Given the description of an element on the screen output the (x, y) to click on. 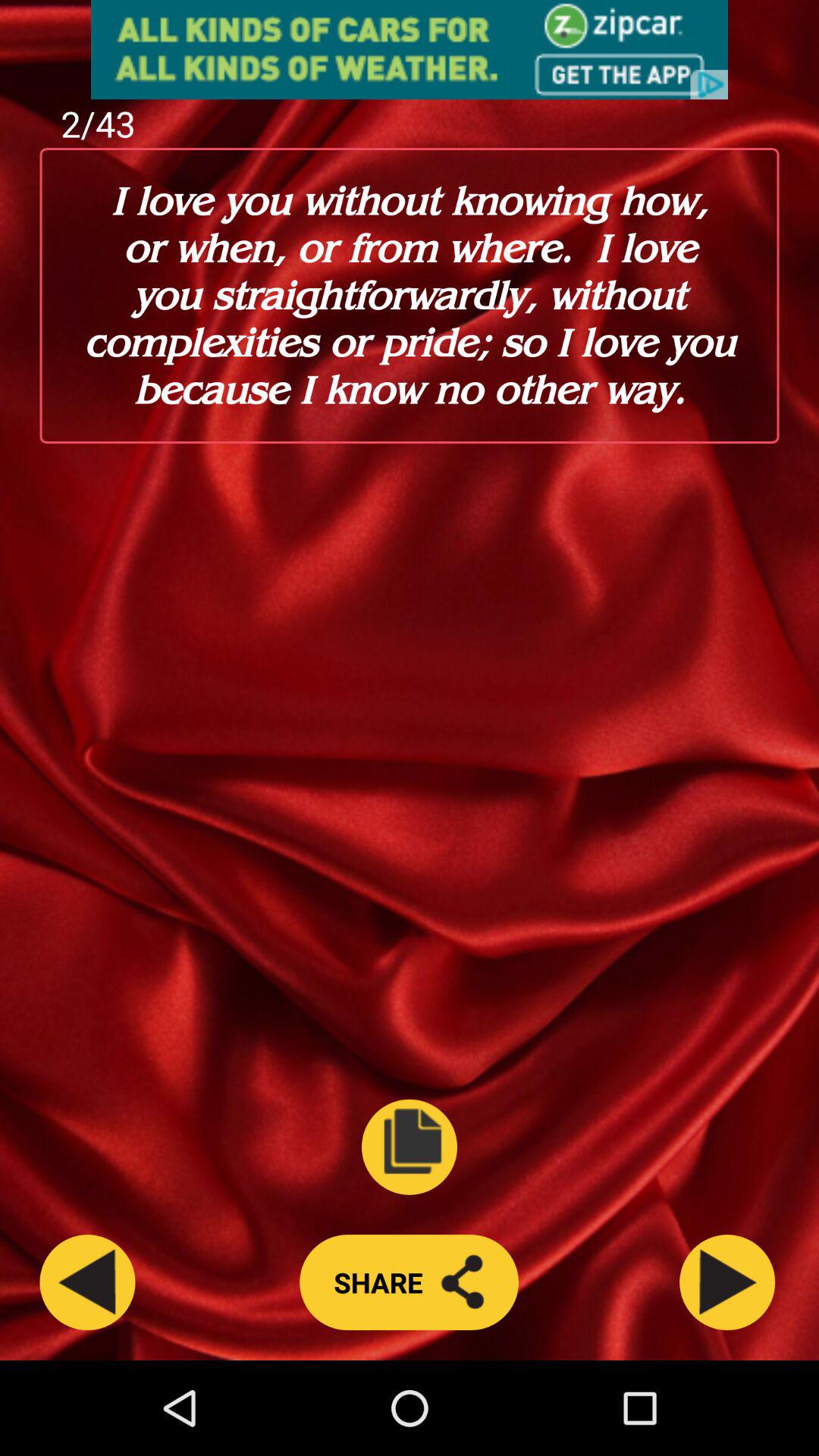
save the content (409, 1146)
